Given the description of an element on the screen output the (x, y) to click on. 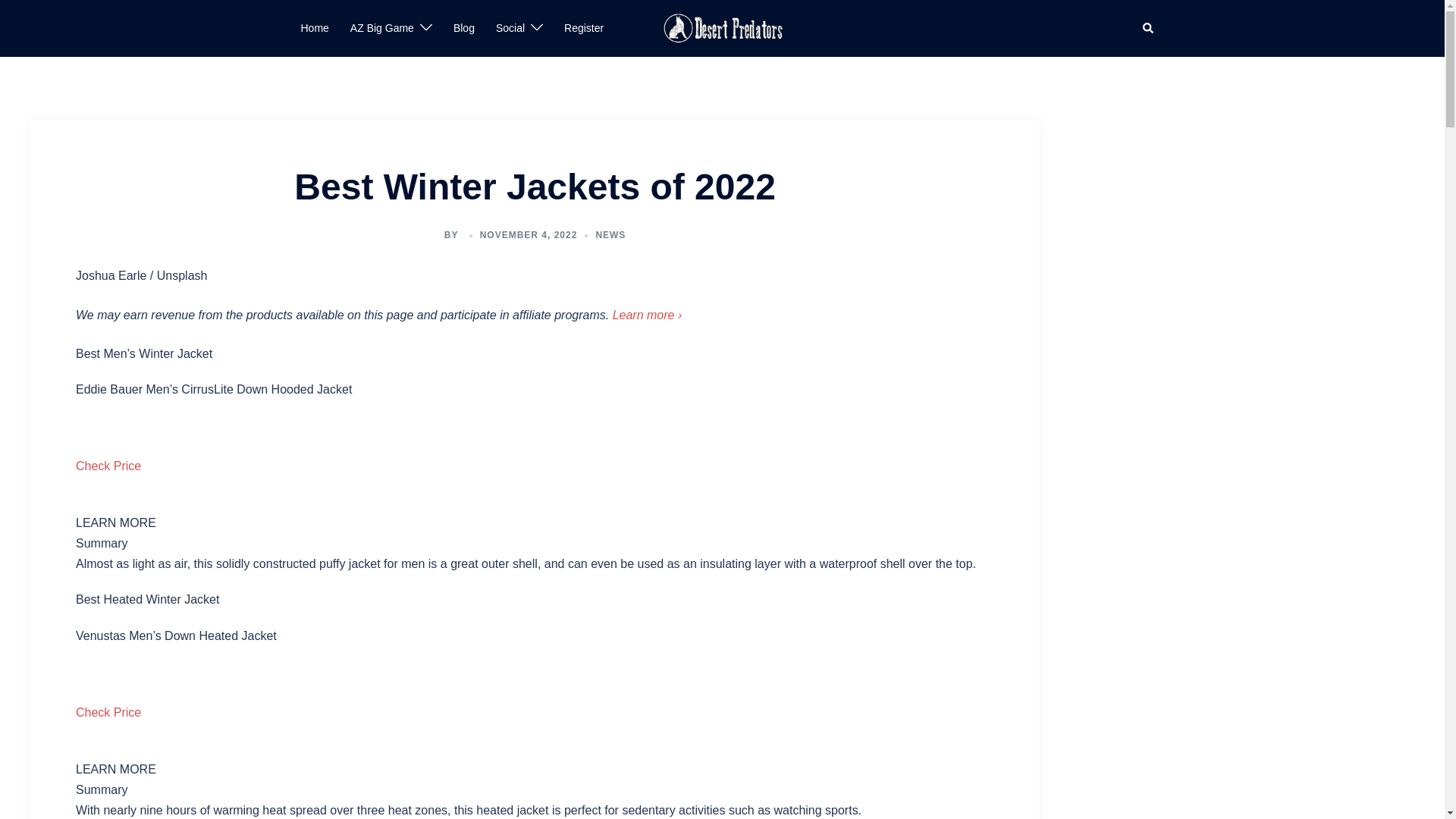
Home (314, 28)
Search (1147, 28)
Desert Predators (721, 27)
Social (510, 28)
AZ Big Game (381, 28)
Blog (463, 28)
Register (584, 28)
